Given the description of an element on the screen output the (x, y) to click on. 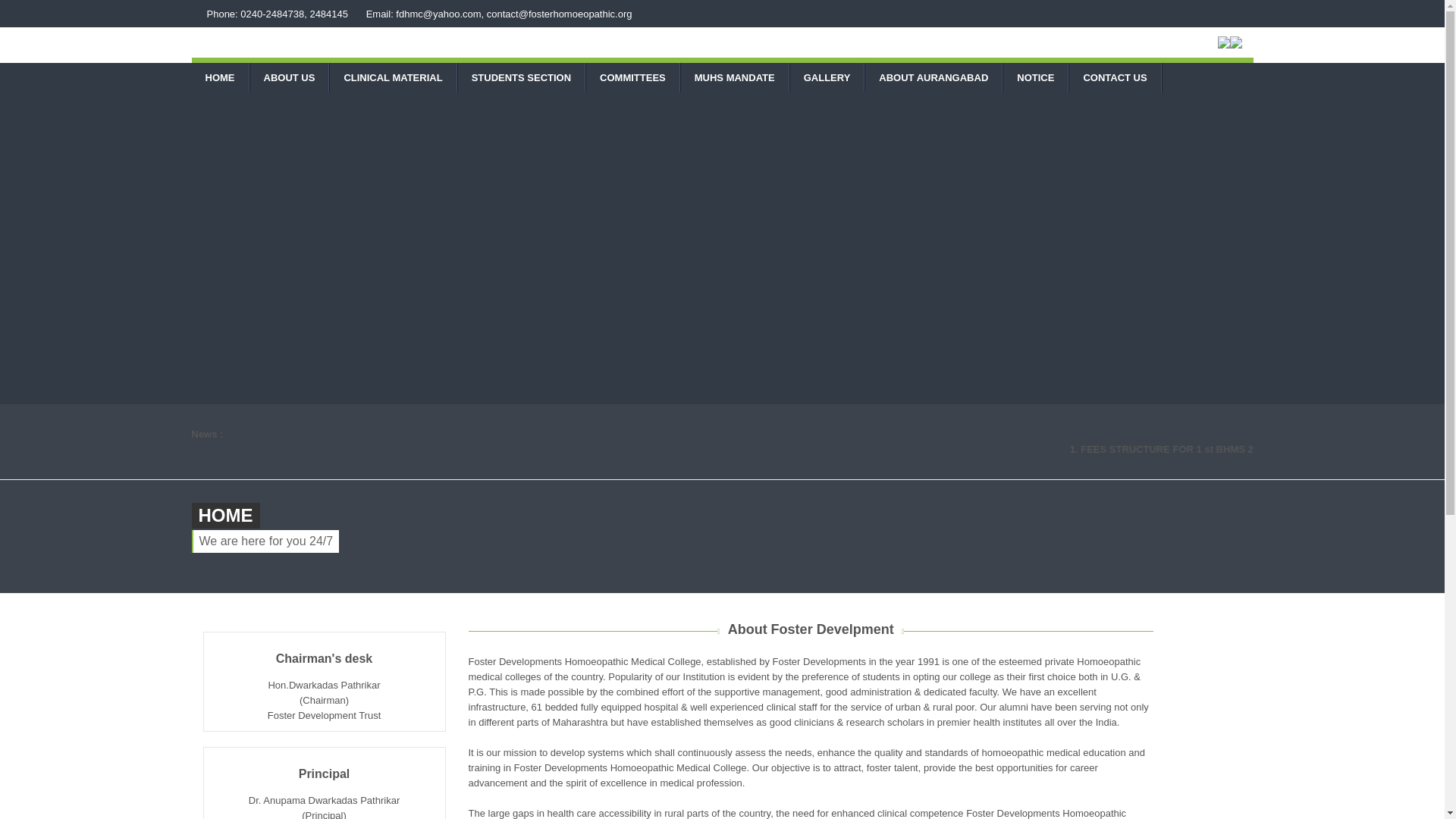
ABOUT US (289, 77)
CLINICAL MATERIAL (392, 77)
HOME (218, 77)
COMMITTEES (632, 77)
STUDENTS SECTION (521, 77)
MUHS MANDATE (735, 77)
